Given the description of an element on the screen output the (x, y) to click on. 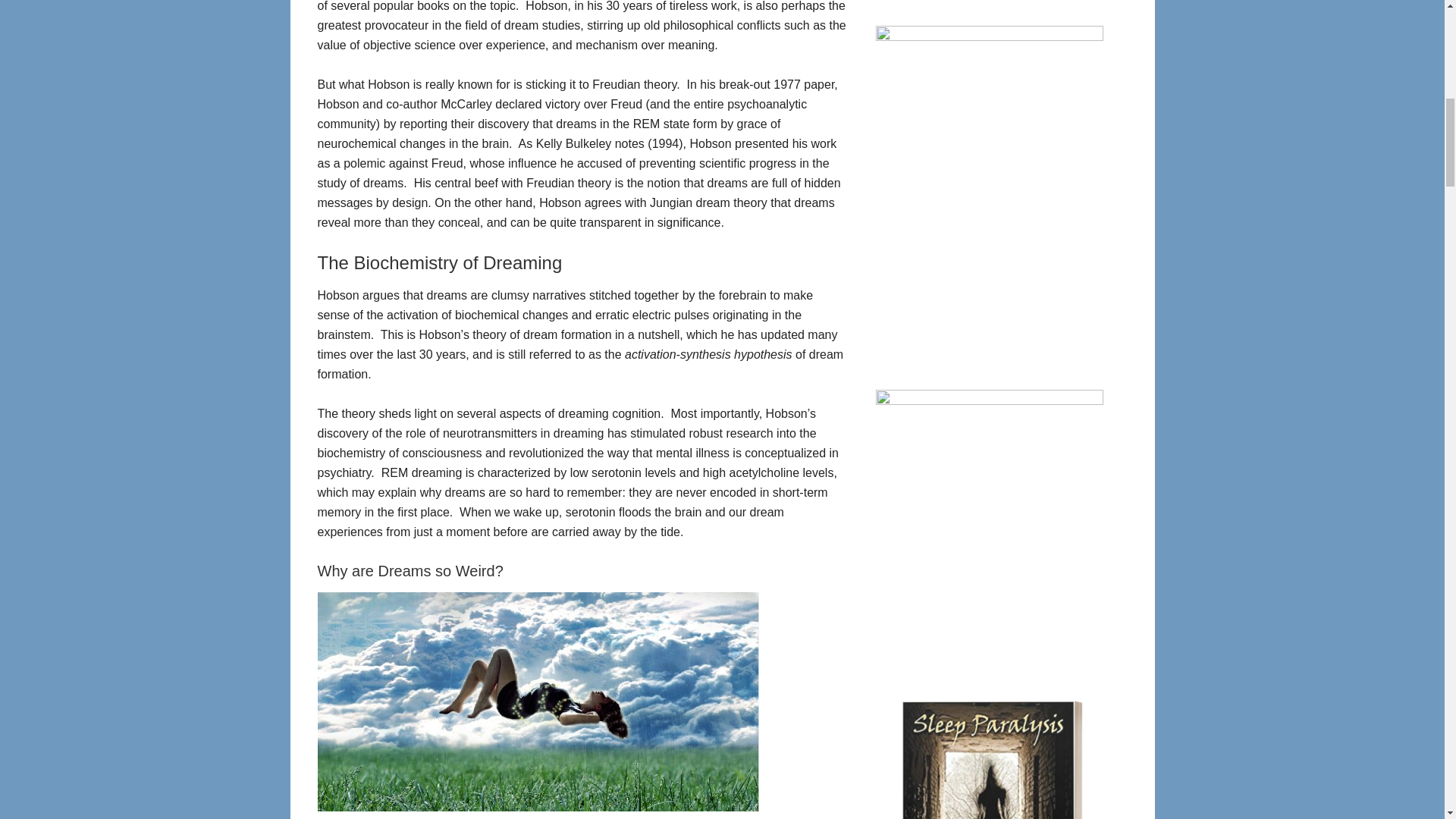
floating dream (537, 701)
